Given the description of an element on the screen output the (x, y) to click on. 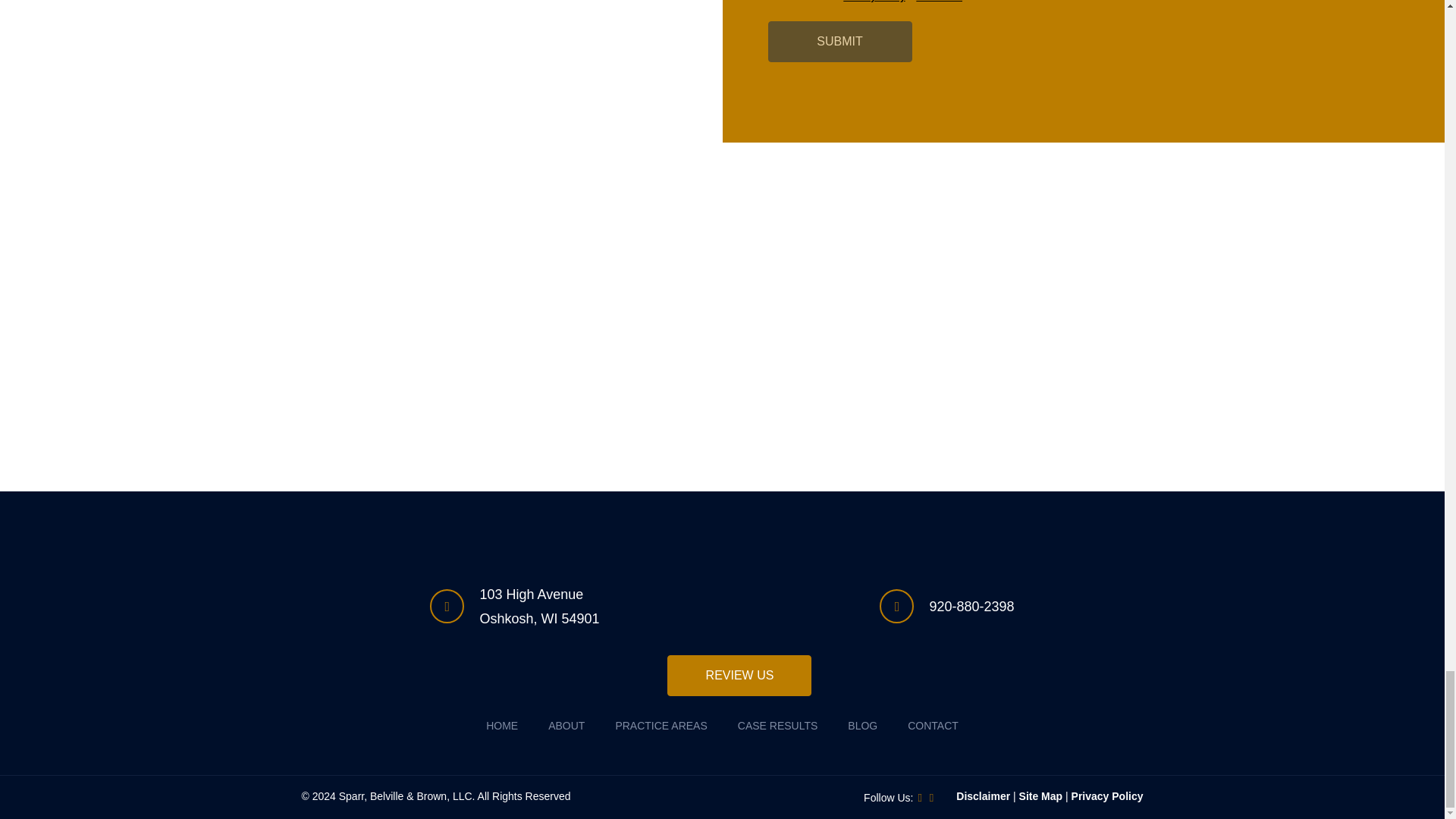
submit (839, 41)
